Given the description of an element on the screen output the (x, y) to click on. 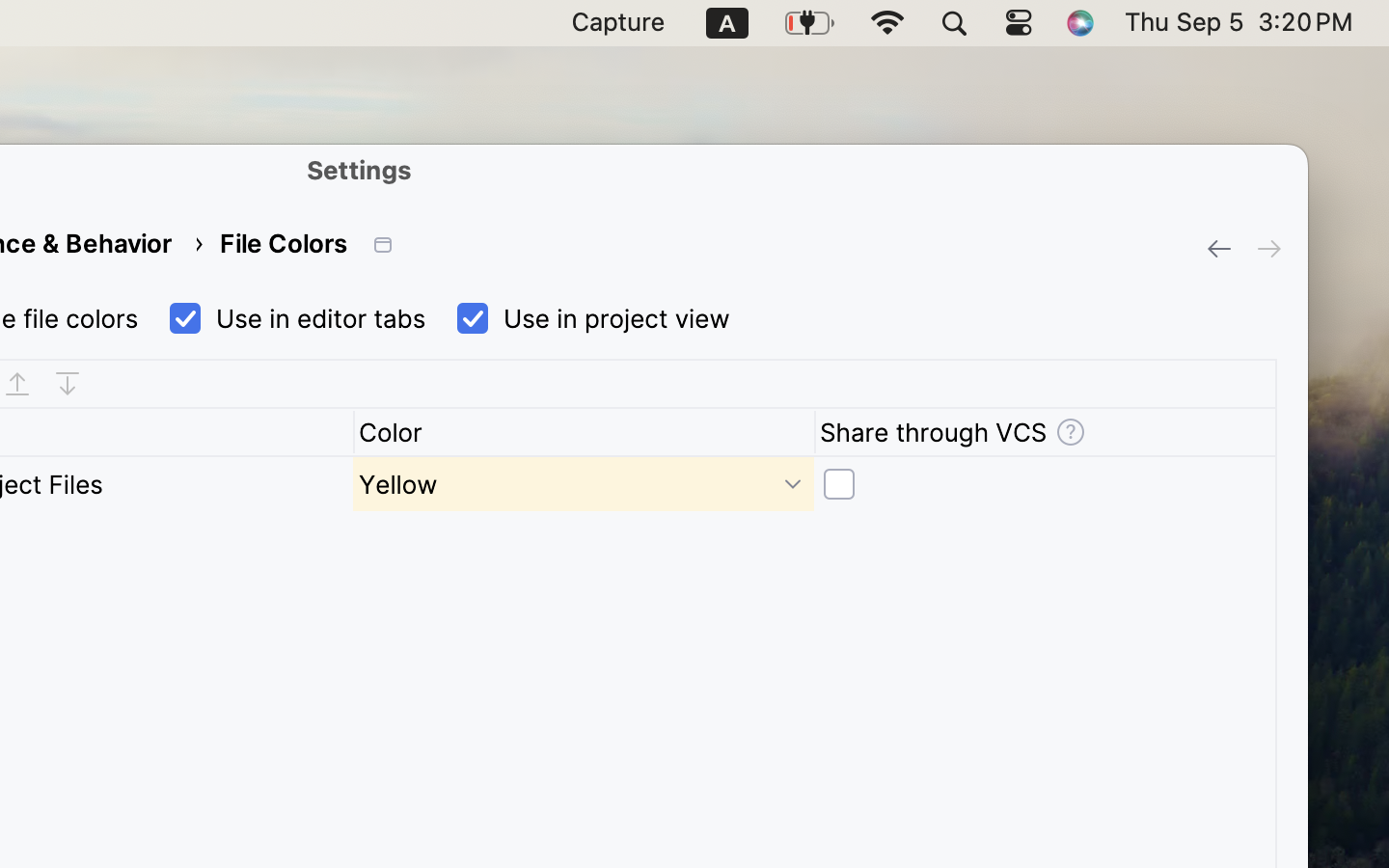
1 Element type: AXCheckBox (589, 319)
0 Element type: AXCell (1044, 484)
Settings Element type: AXStaticText (359, 169)
0 Element type: AXStaticText (583, 484)
